Given the description of an element on the screen output the (x, y) to click on. 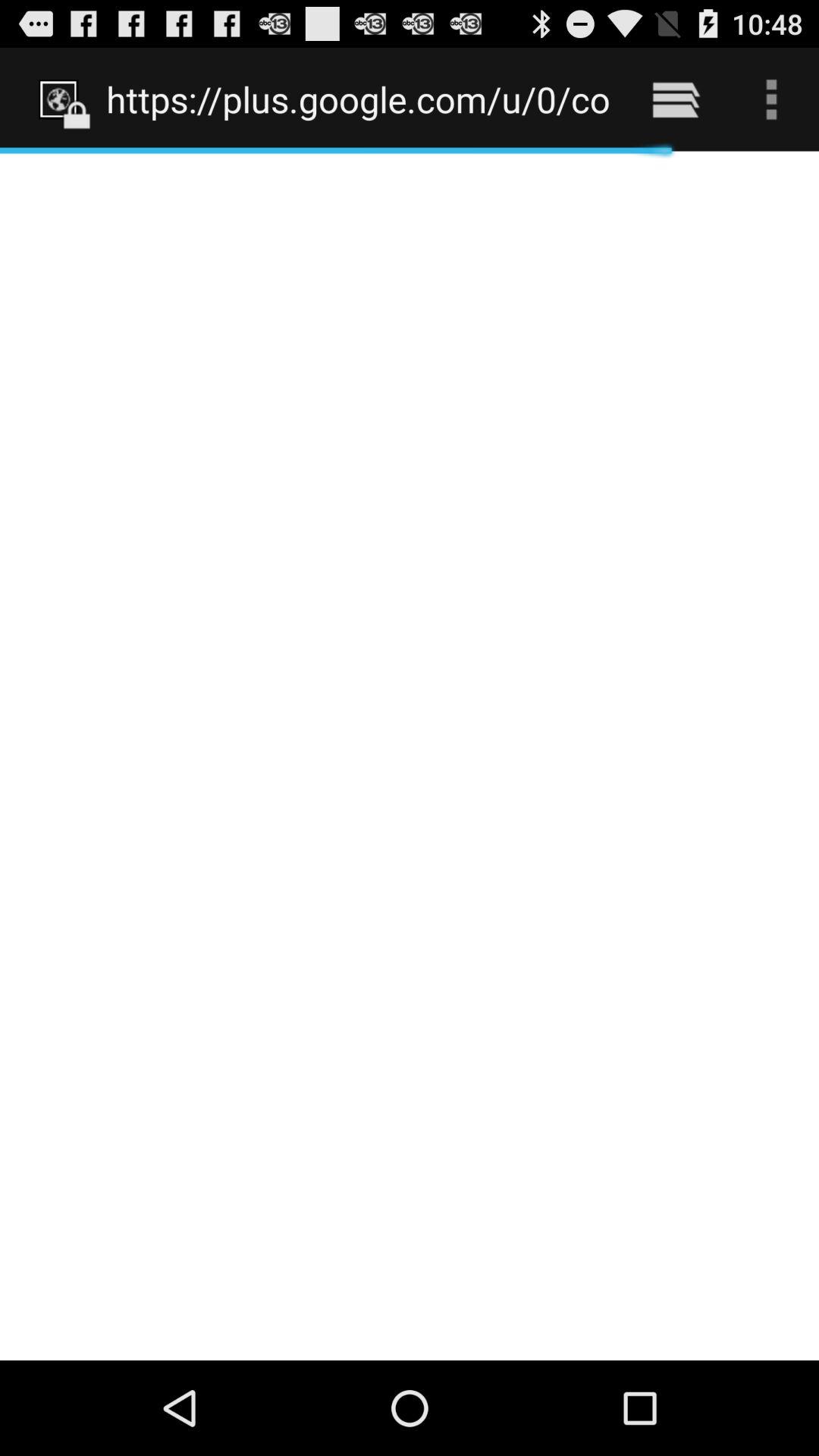
tap the item at the center (409, 755)
